Given the description of an element on the screen output the (x, y) to click on. 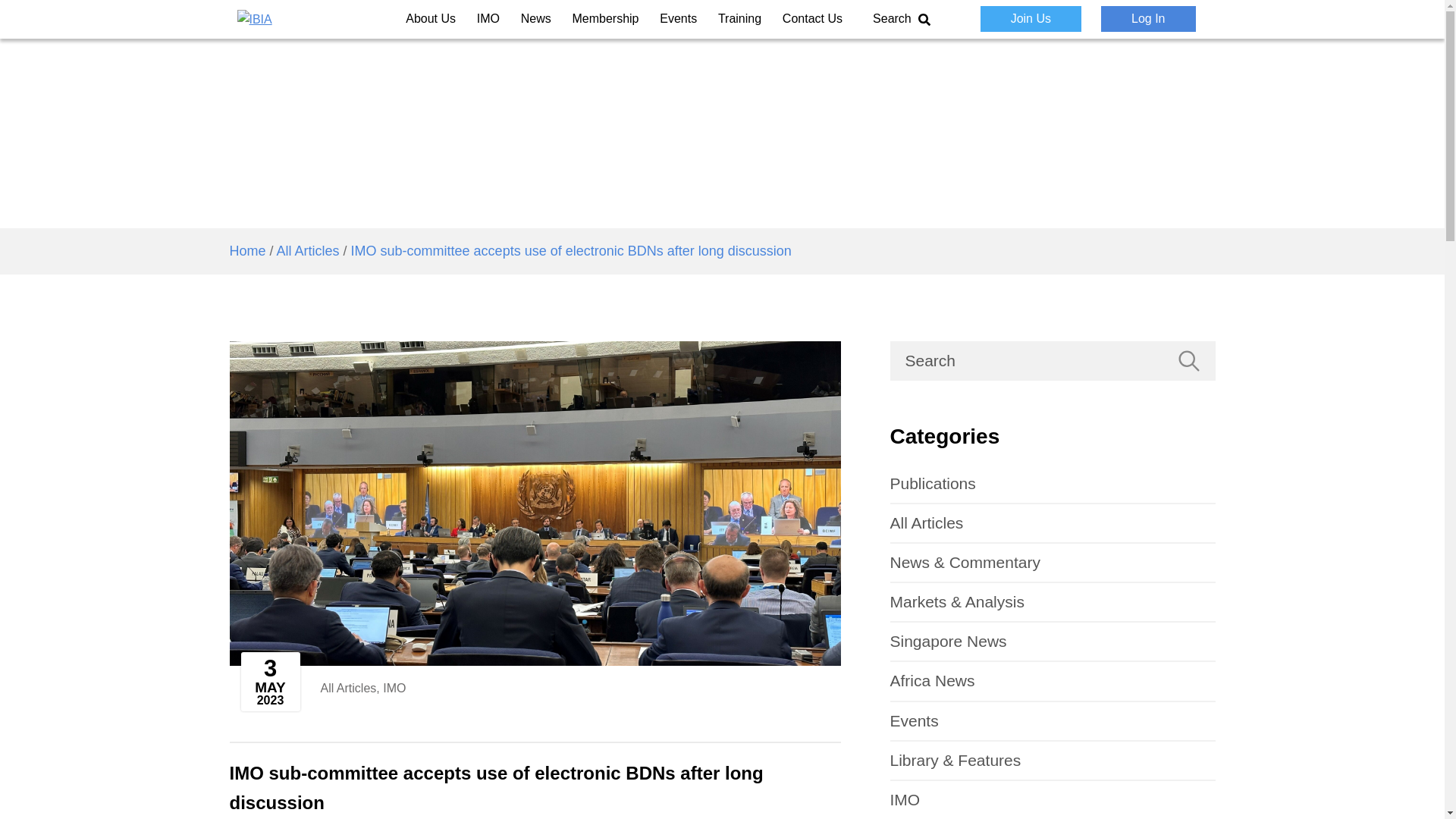
All Articles (307, 250)
Submit (1050, 56)
Membership (605, 18)
Search   (901, 18)
Submit (1187, 360)
IMO (488, 18)
News (536, 18)
Join Us (1030, 18)
All Articles (347, 687)
Submit (1187, 360)
